Given the description of an element on the screen output the (x, y) to click on. 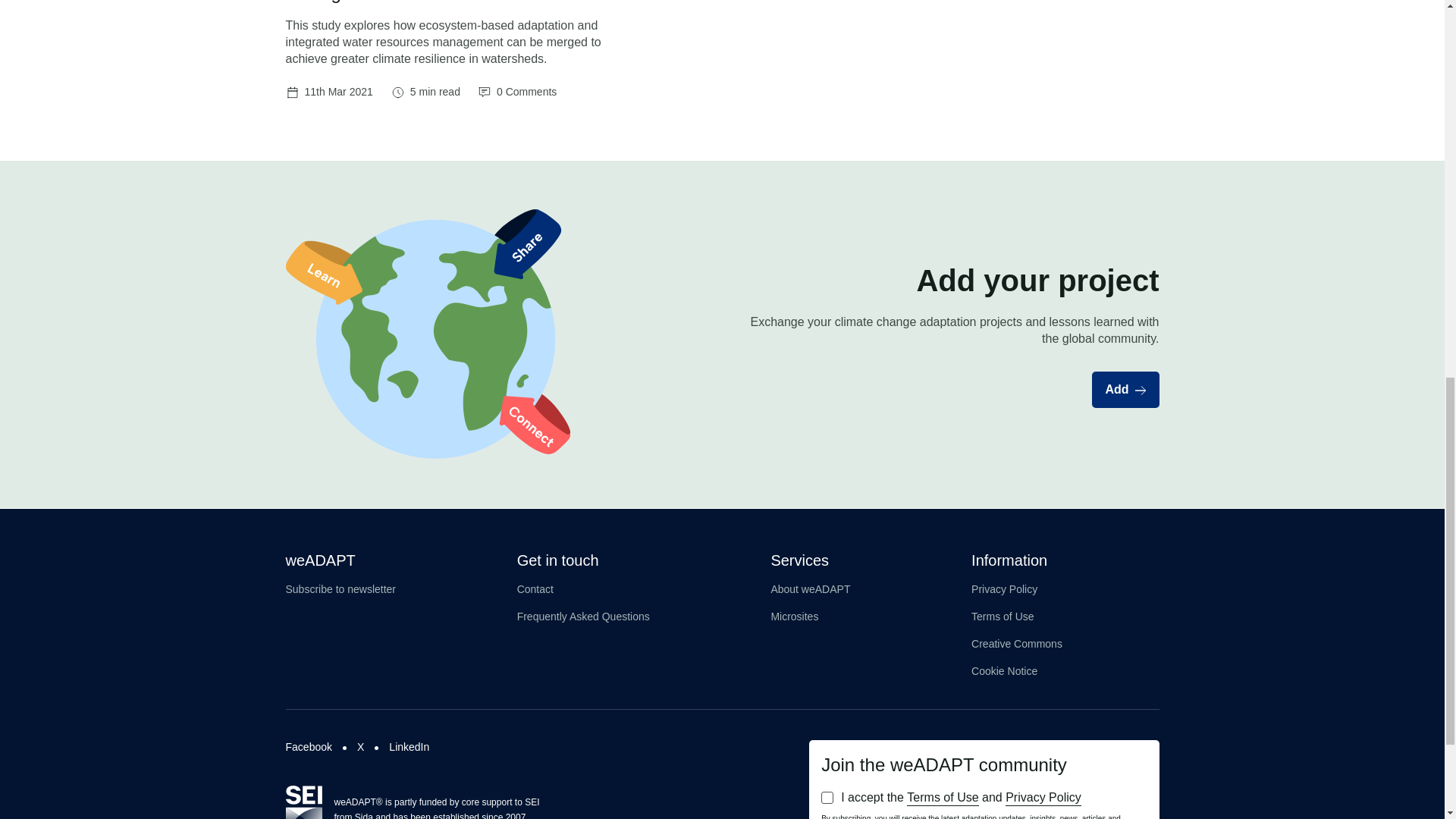
1 (826, 797)
